Given the description of an element on the screen output the (x, y) to click on. 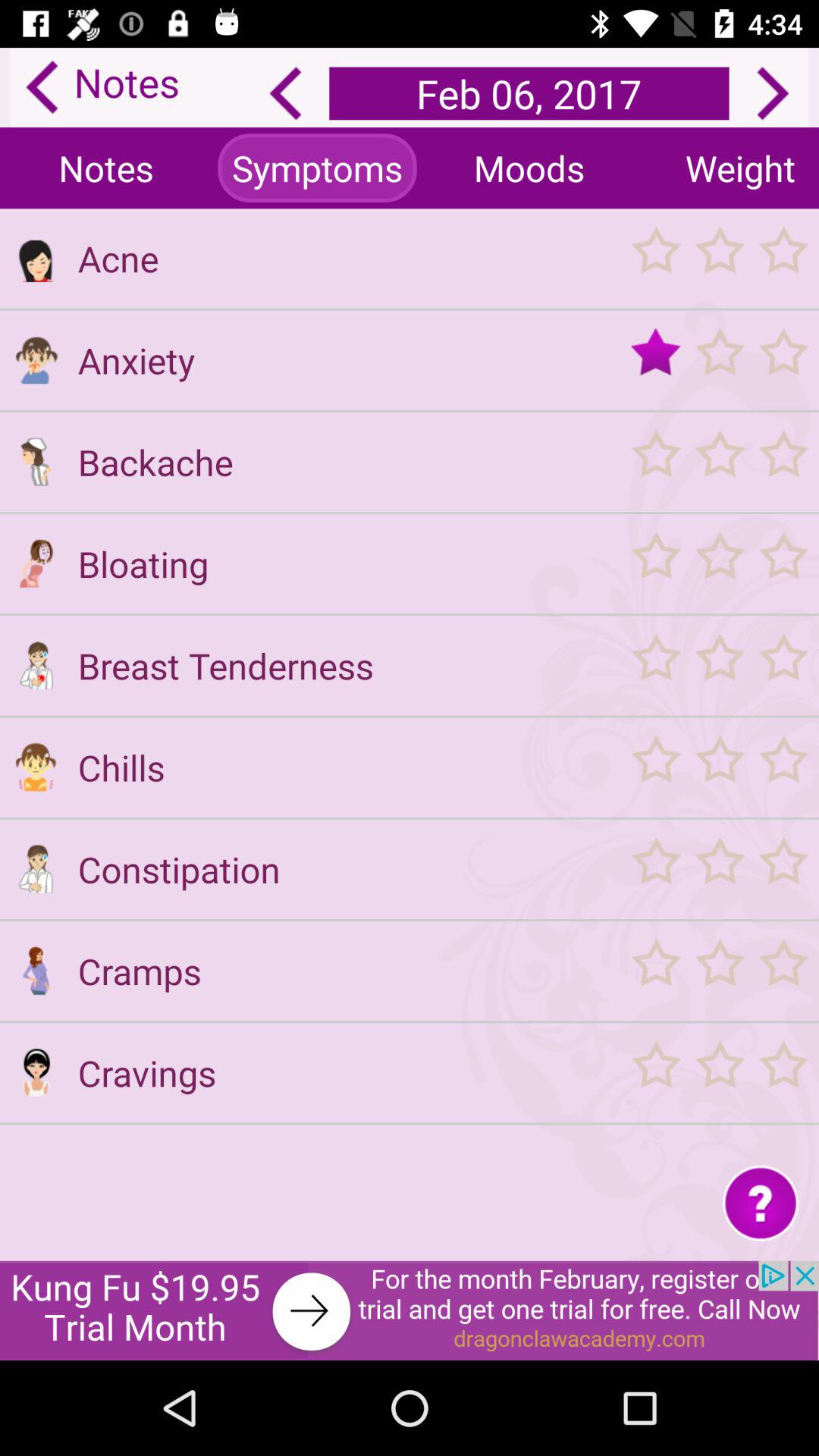
advertisement page (409, 1310)
